Given the description of an element on the screen output the (x, y) to click on. 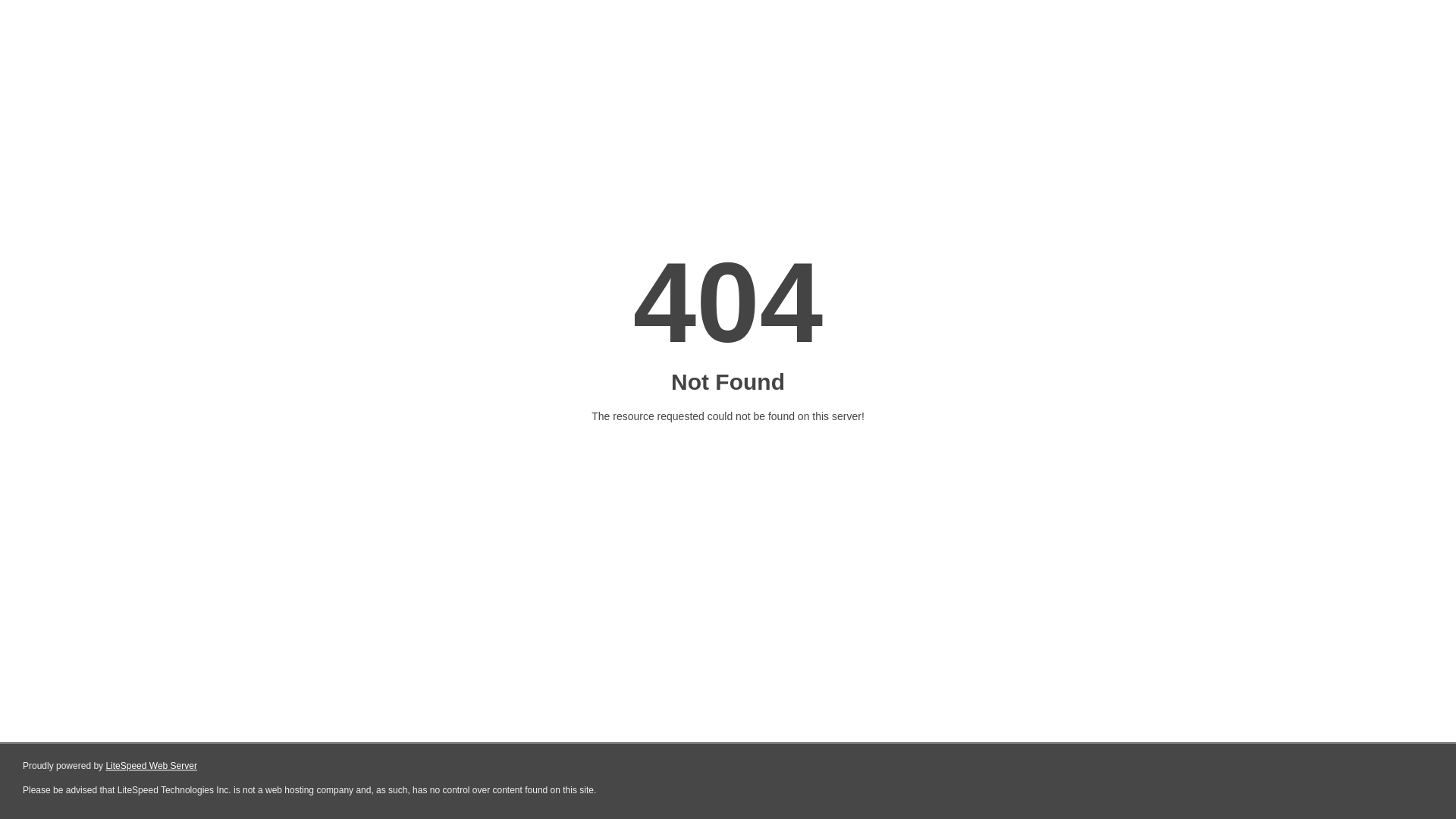
LiteSpeed Web Server Element type: text (151, 765)
